Given the description of an element on the screen output the (x, y) to click on. 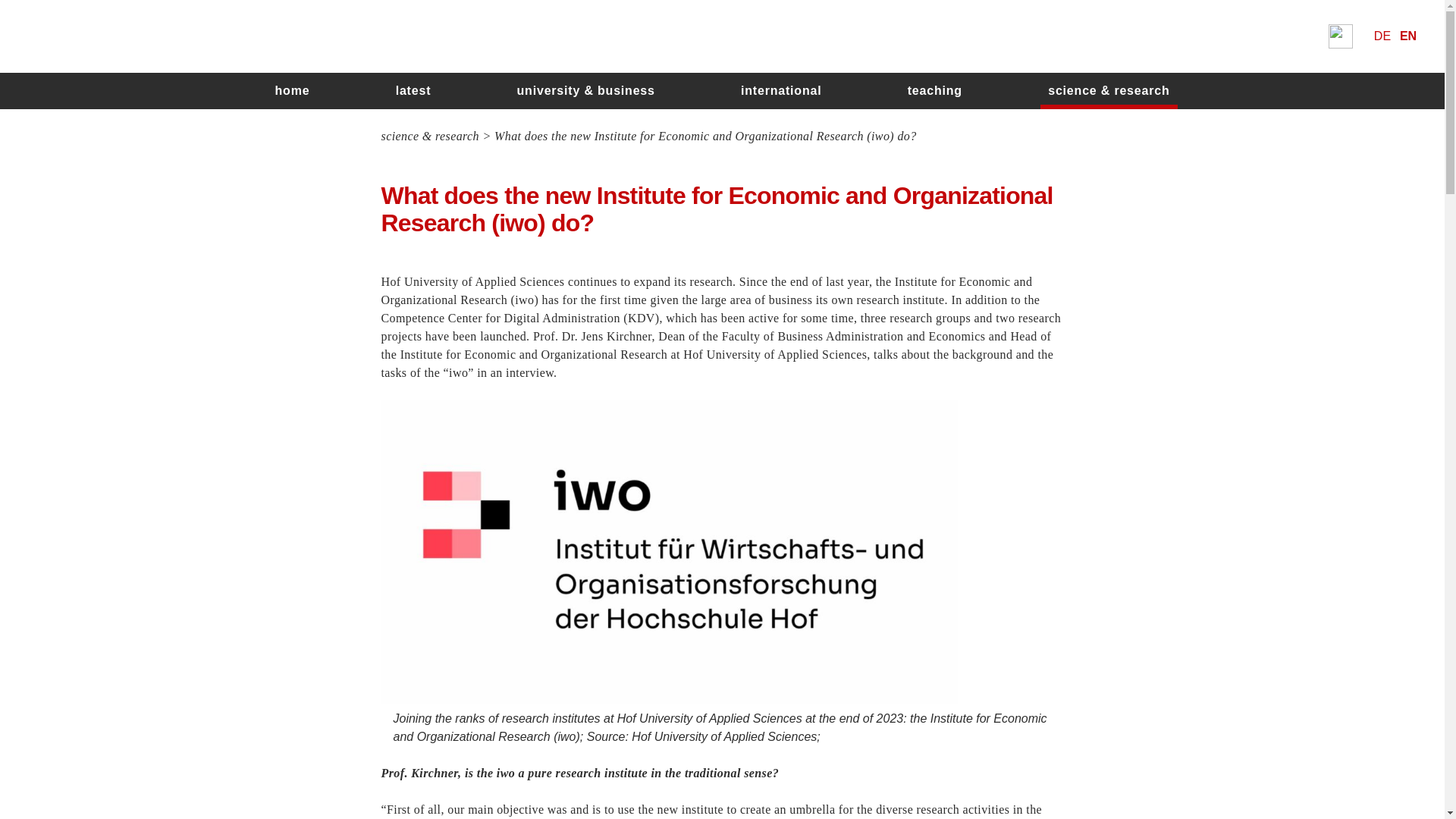
DE (1382, 35)
international (780, 90)
latest (413, 90)
EN (1407, 35)
teaching (934, 90)
home (291, 90)
search (908, 457)
